Given the description of an element on the screen output the (x, y) to click on. 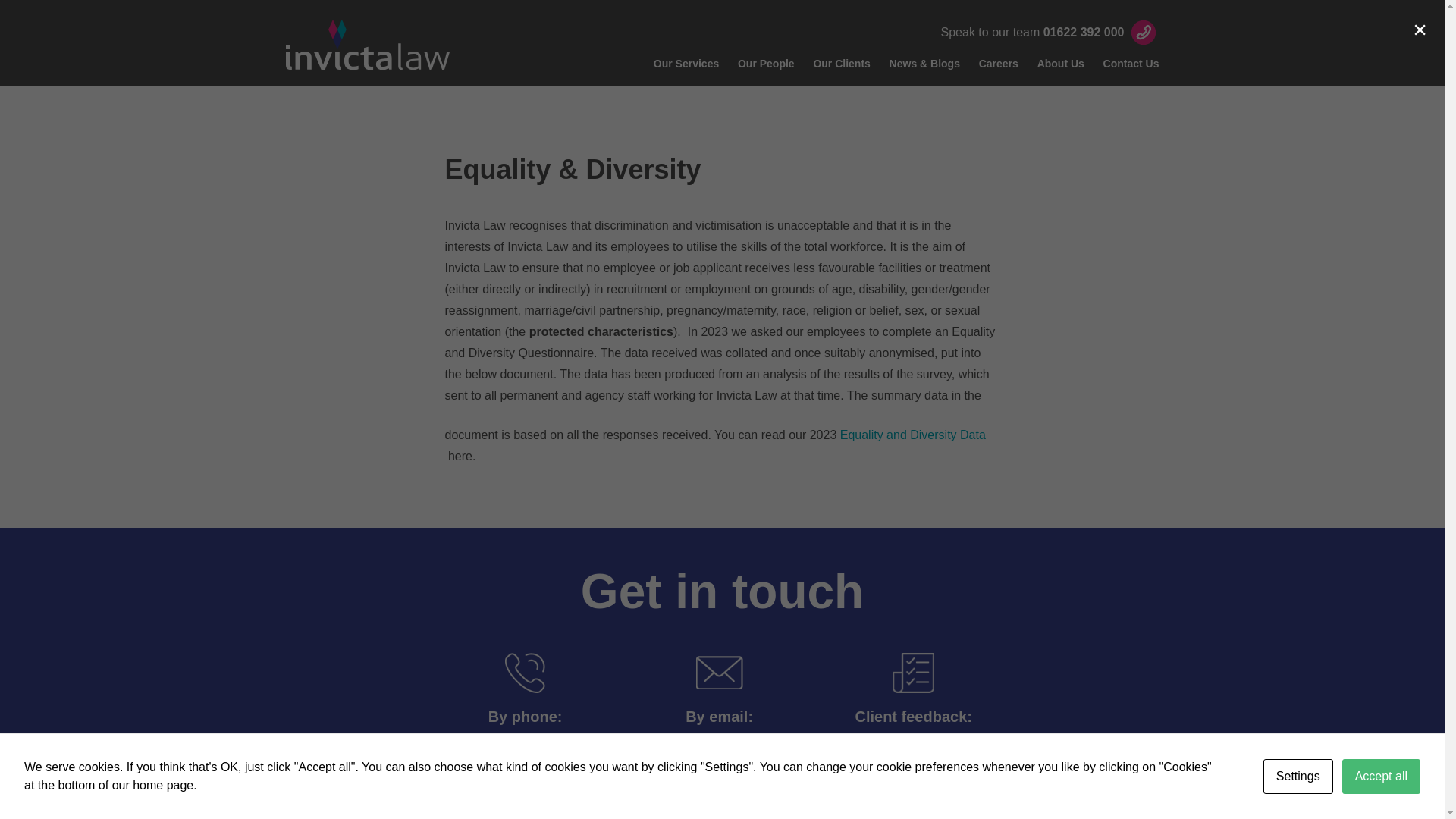
01622 392 000 (524, 742)
Take our survey (913, 742)
Contact Us (1130, 65)
Close (1419, 29)
Careers (997, 65)
Speak to our team 01622 392 000 (1049, 31)
Equality and Diversity Data (912, 435)
Our Services (686, 65)
About Us (1060, 65)
Our Clients (840, 65)
Our People (766, 65)
